Given the description of an element on the screen output the (x, y) to click on. 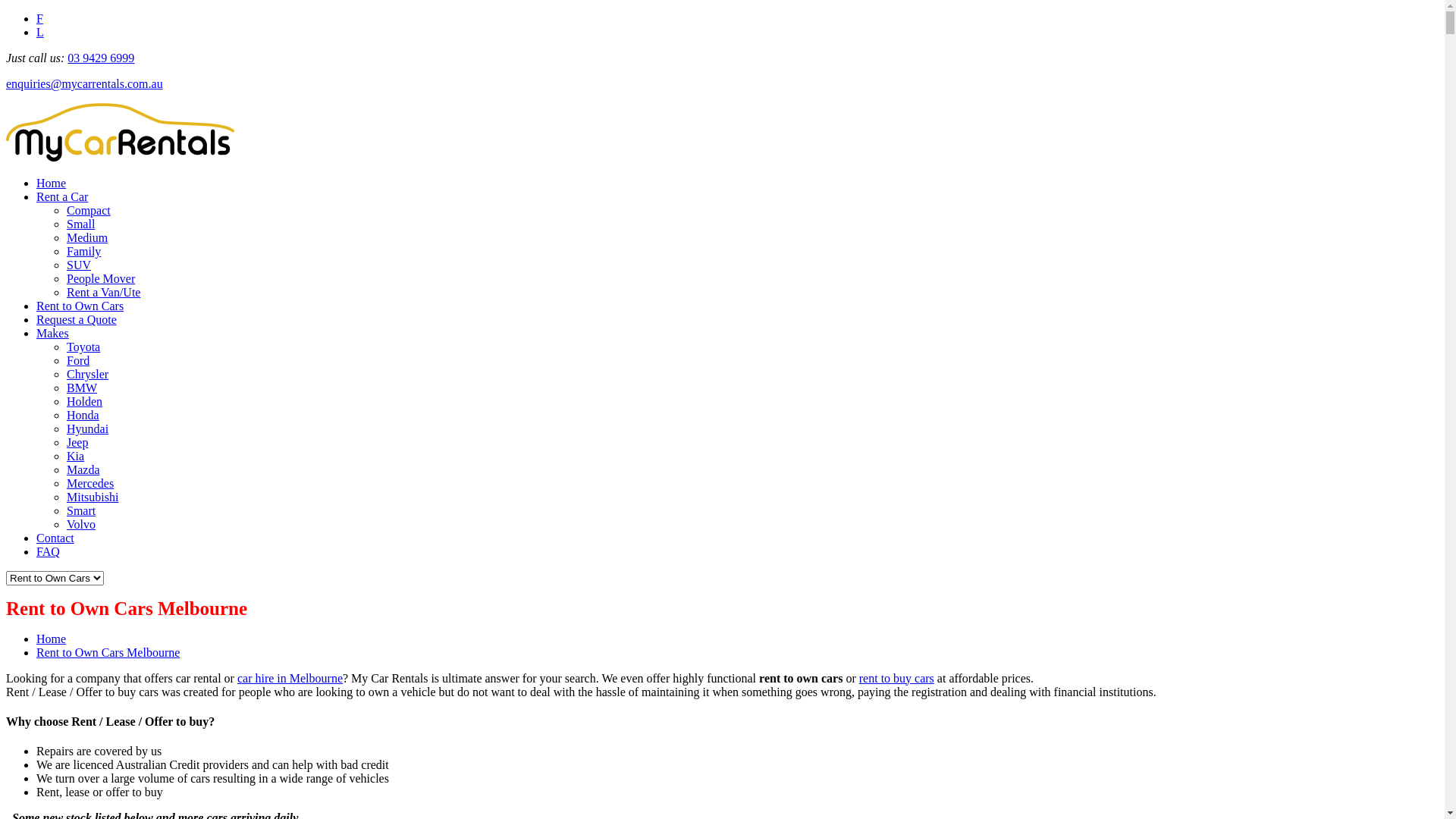
Kia Element type: text (75, 455)
Rent to Own Cars Melbourne Element type: text (107, 652)
Family Element type: text (83, 250)
Small Element type: text (80, 223)
FAQ Element type: text (47, 551)
Jeep Element type: text (76, 442)
SUV Element type: text (78, 264)
Chrysler Element type: text (87, 373)
rent to buy cars Element type: text (896, 677)
People Mover Element type: text (100, 278)
car hire in Melbourne Element type: text (289, 677)
Volvo Element type: text (80, 523)
My Car Rentals | Rent to Own Cars Melbourne Element type: hover (120, 156)
Contact Element type: text (55, 537)
Rent a Car Element type: text (61, 196)
Hyundai Element type: text (87, 428)
Smart Element type: text (80, 510)
Rent to Own Cars Element type: text (79, 305)
Home Element type: text (50, 182)
Request a Quote Element type: text (76, 319)
Ford Element type: text (77, 360)
Rent a Van/Ute Element type: text (103, 291)
Makes Element type: text (52, 332)
Mercedes Element type: text (89, 482)
BMW Element type: text (81, 387)
F Element type: text (39, 18)
Honda Element type: text (82, 414)
Mitsubishi Element type: text (92, 496)
03 9429 6999 Element type: text (100, 57)
Holden Element type: text (84, 401)
Mazda Element type: text (83, 469)
L Element type: text (39, 31)
Home Element type: text (50, 638)
Toyota Element type: text (83, 346)
Compact Element type: text (88, 209)
enquiries@mycarrentals.com.au Element type: text (84, 83)
Medium Element type: text (86, 237)
